Given the description of an element on the screen output the (x, y) to click on. 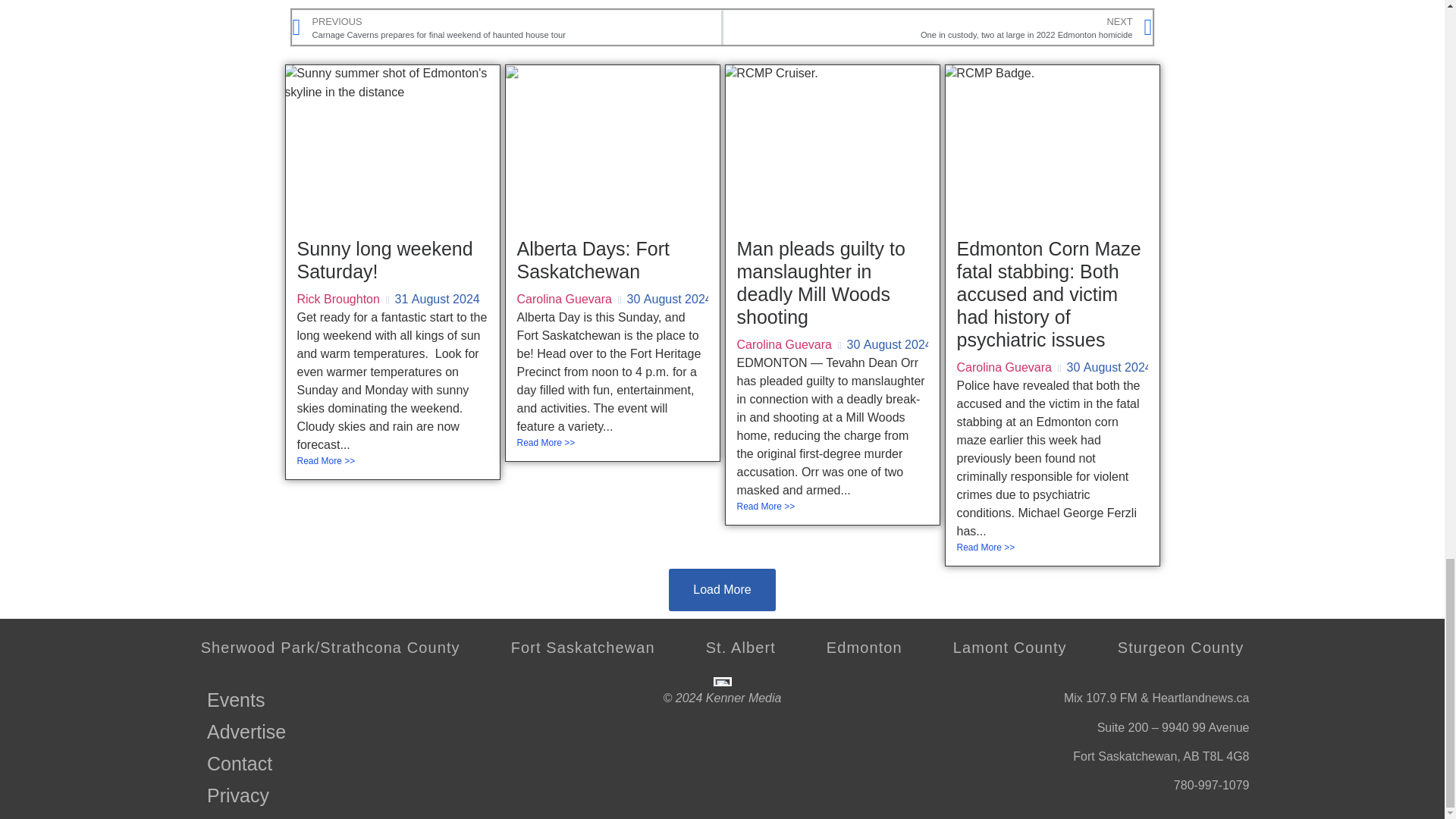
Posts by Carolina Guevara (783, 344)
Posts by Carolina Guevara (563, 298)
Posts by Rick Broughton (338, 298)
Sunny long weekend Saturday! (385, 259)
Alberta Days: Fort Saskatchewan (592, 259)
Posts by Carolina Guevara (1003, 367)
